Given the description of an element on the screen output the (x, y) to click on. 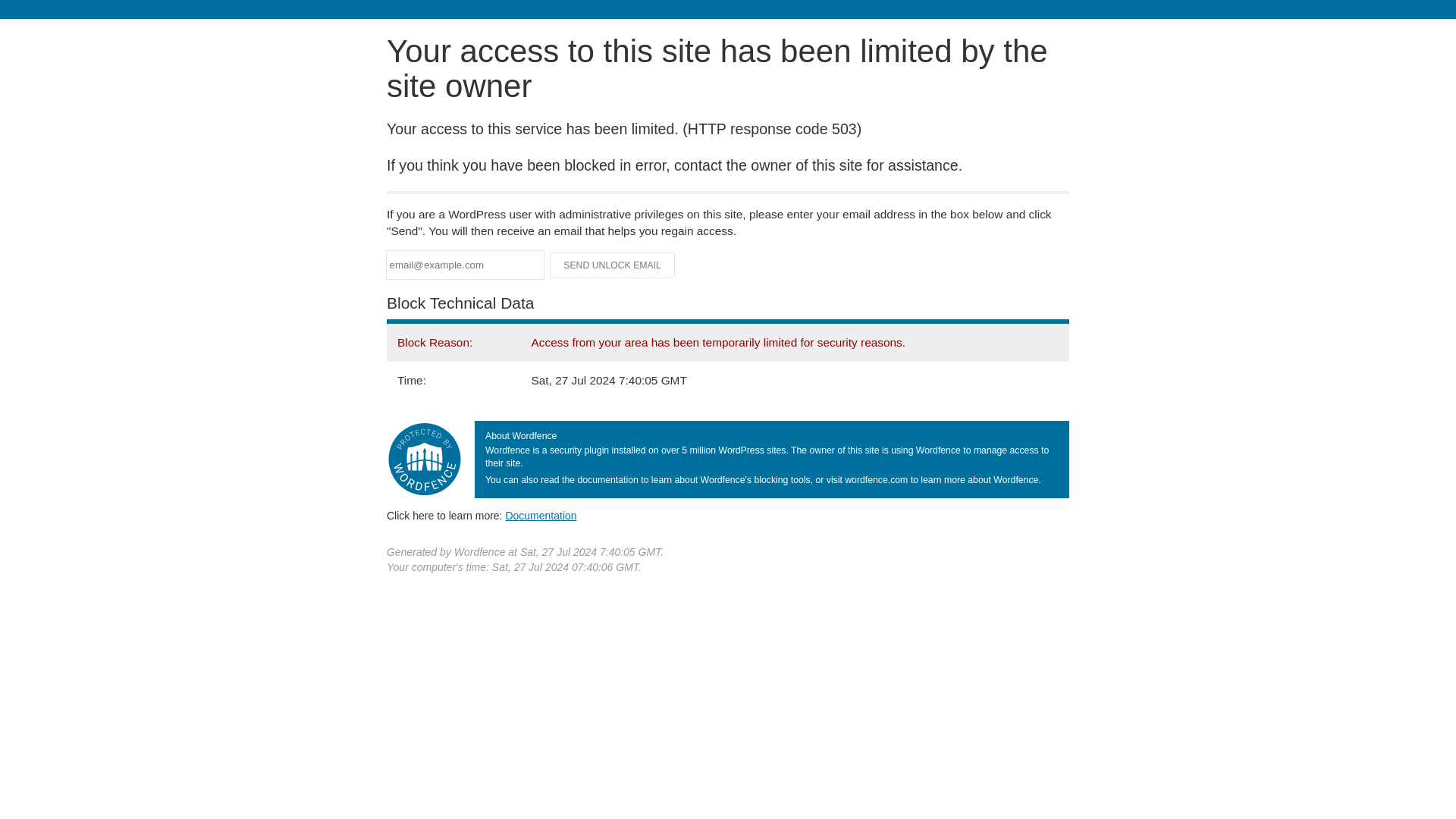
Send Unlock Email (612, 265)
Documentation (540, 515)
Send Unlock Email (612, 265)
